Given the description of an element on the screen output the (x, y) to click on. 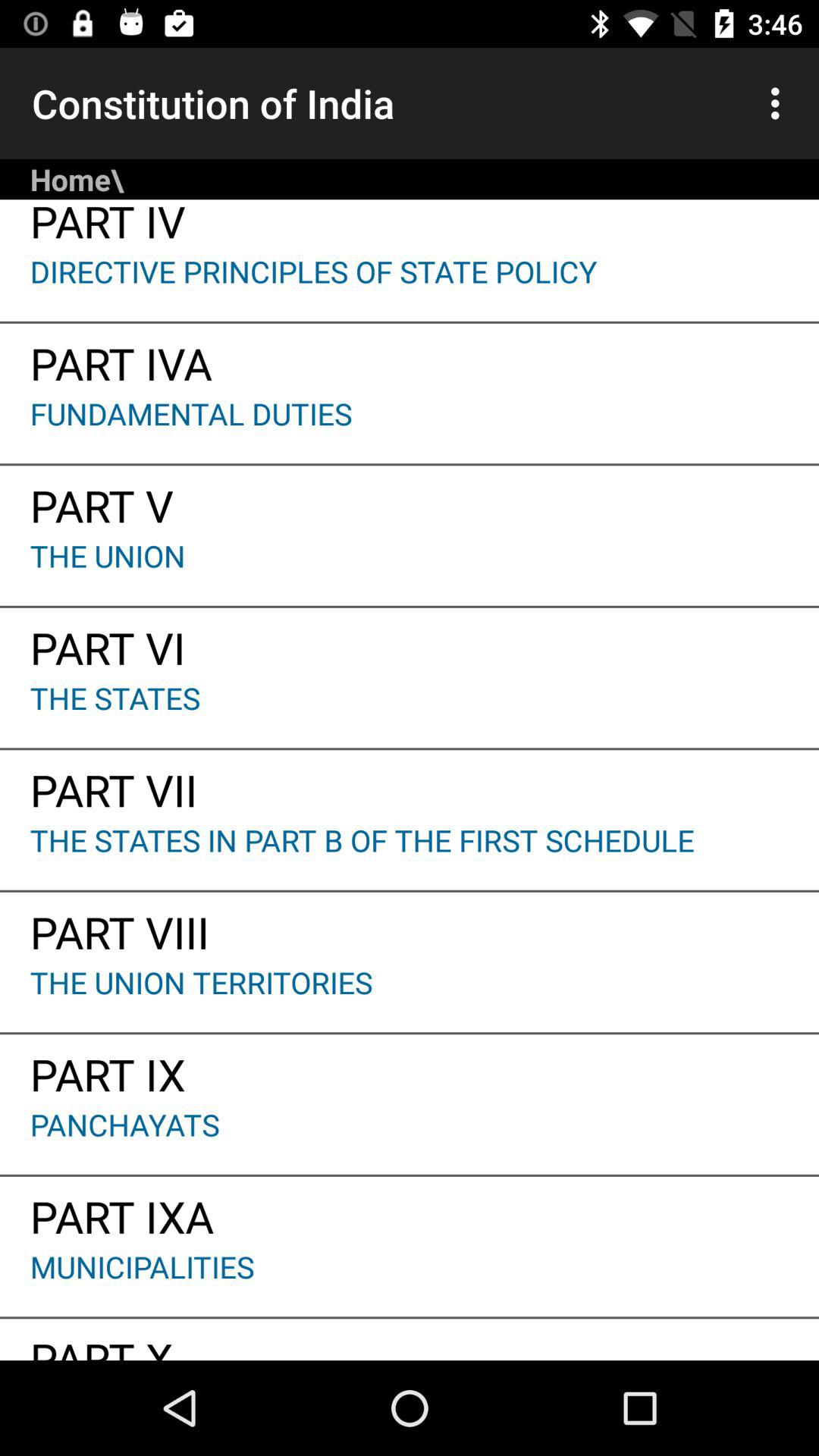
turn on app above part iva app (409, 286)
